Given the description of an element on the screen output the (x, y) to click on. 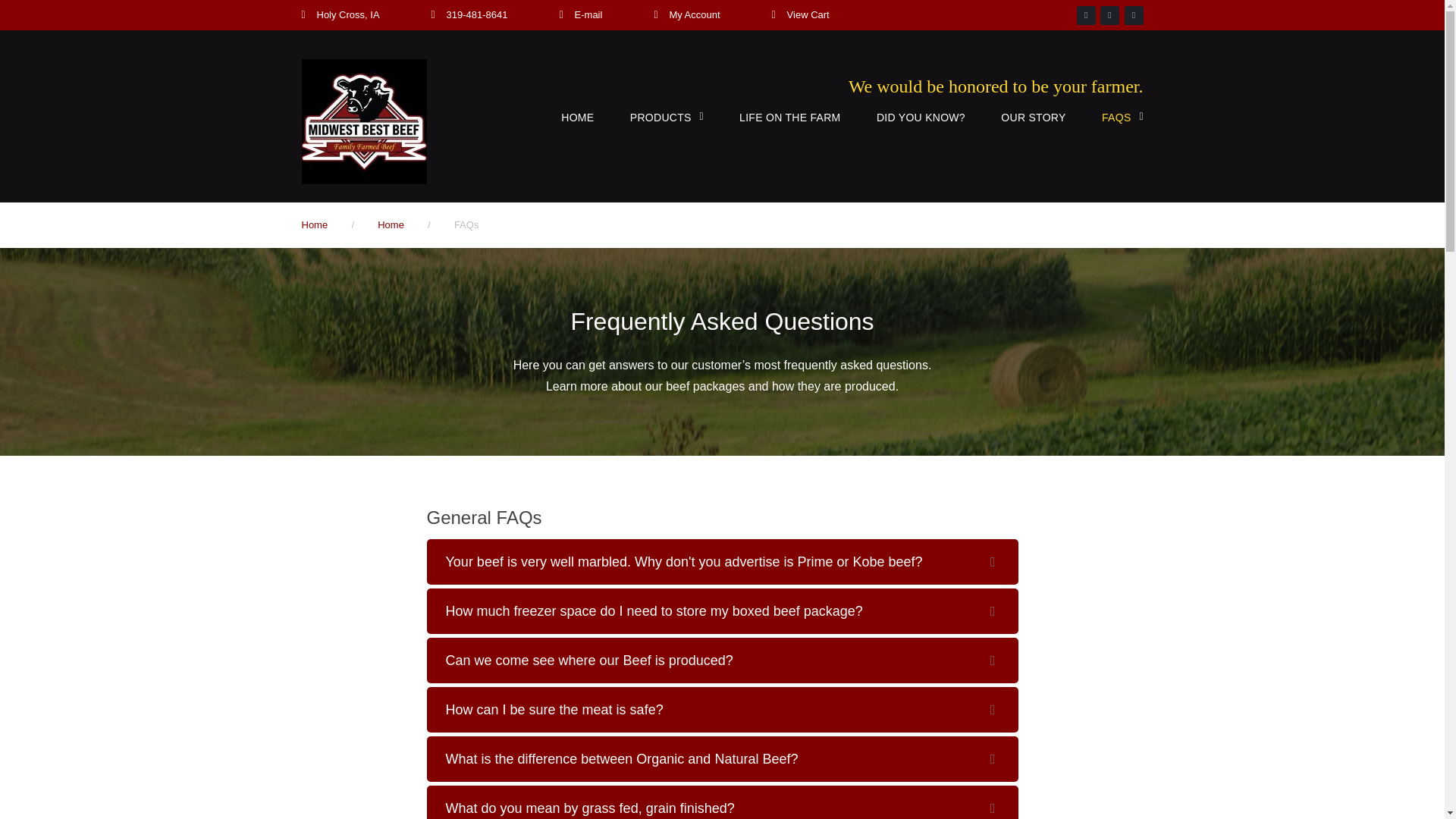
Home (390, 224)
Holy Cross, IA (348, 14)
DID YOU KNOW? (920, 117)
Home (315, 224)
PRODUCTS (660, 117)
Home (390, 224)
Home (315, 224)
319-481-8641 (477, 14)
FAQS (1116, 117)
View Cart (808, 14)
E-mail (588, 14)
Vimeo (1133, 15)
OUR STORY (1033, 117)
LIFE ON THE FARM (789, 117)
Facebook (1086, 15)
